Given the description of an element on the screen output the (x, y) to click on. 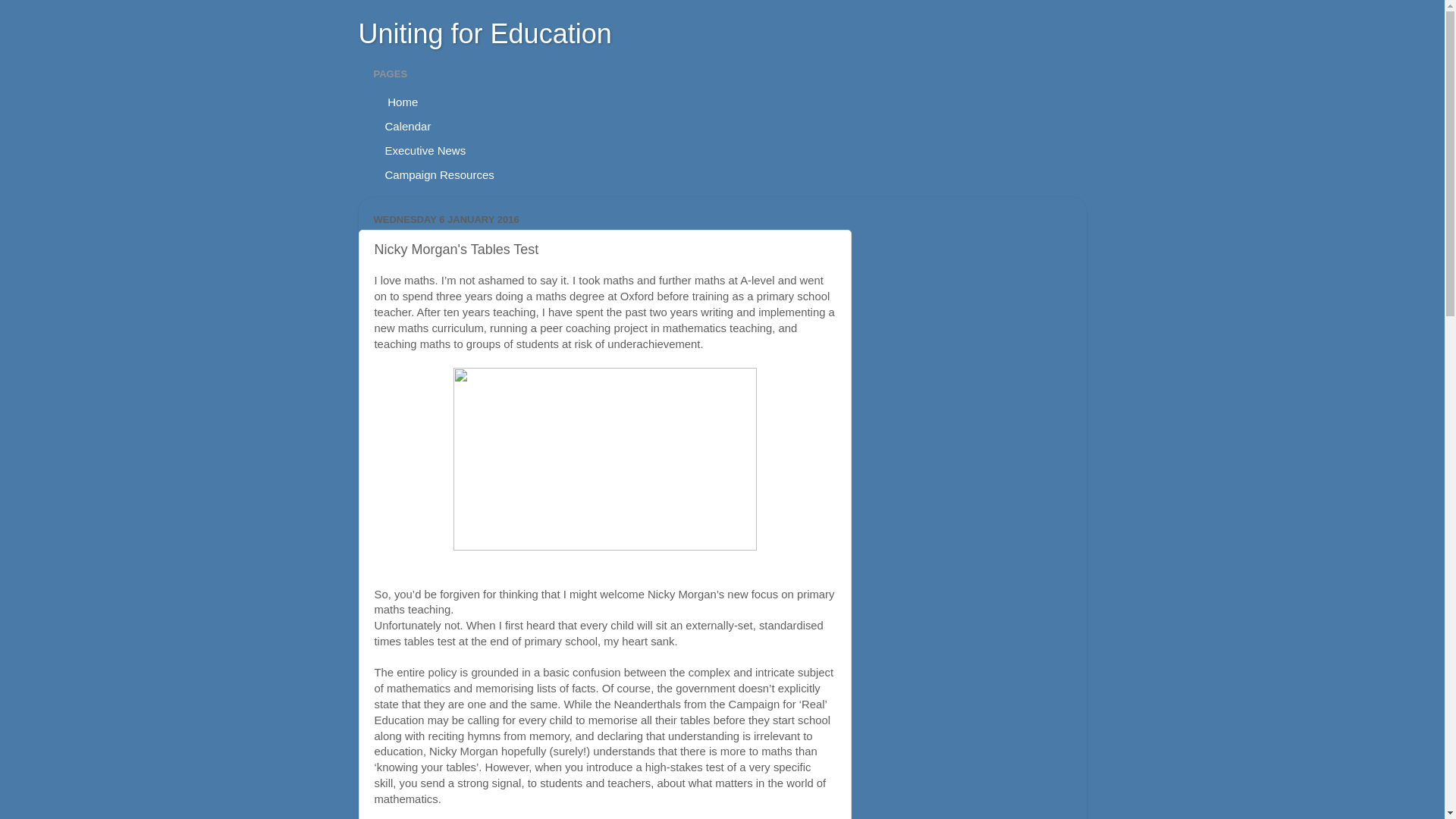
Home (400, 102)
Calendar (407, 126)
Uniting for Education (484, 33)
Campaign Resources (438, 174)
Executive News (424, 150)
